Given the description of an element on the screen output the (x, y) to click on. 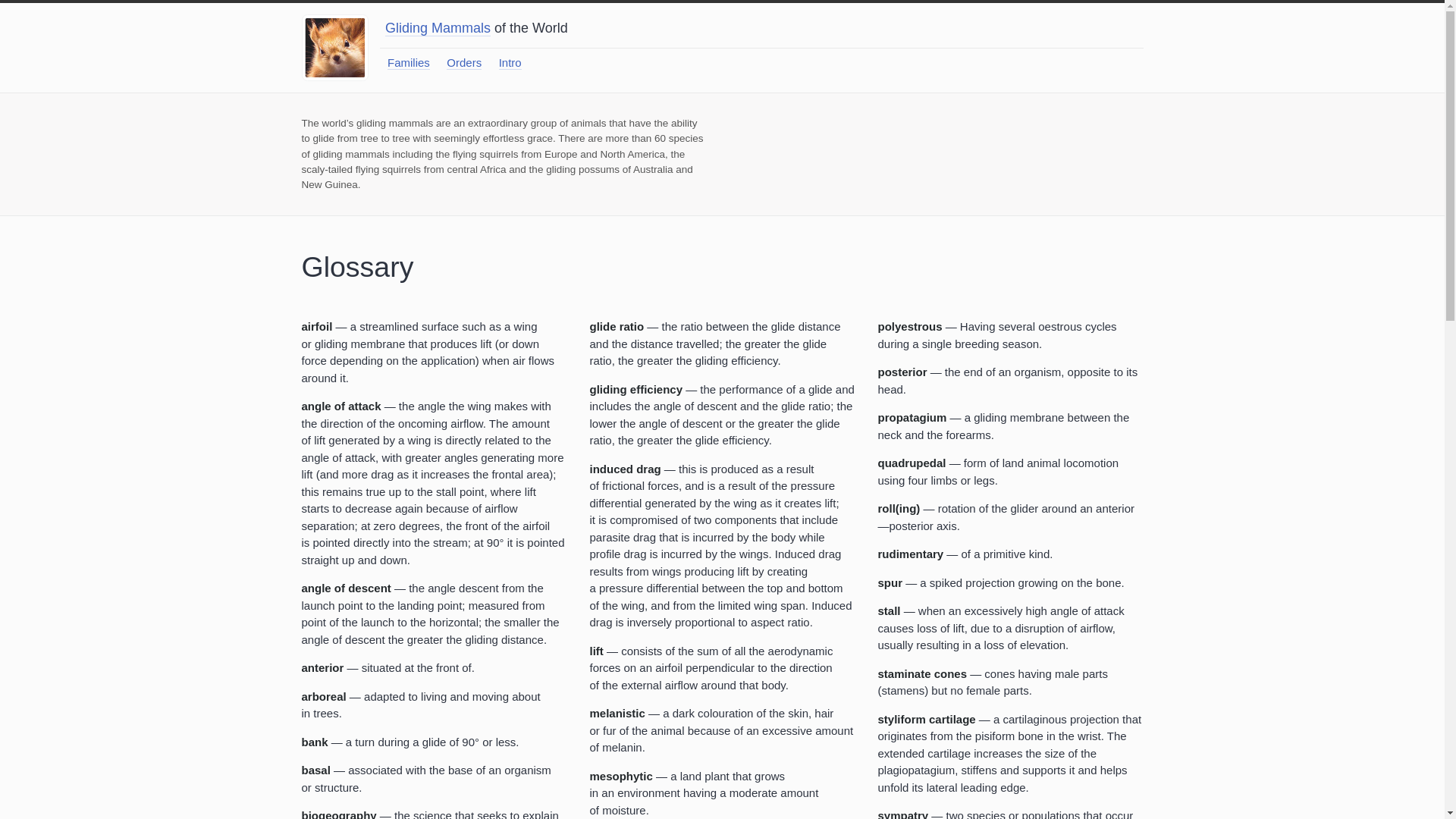
Gliding Mammals (437, 27)
Families (408, 62)
Intro (510, 62)
Orders (463, 62)
